Given the description of an element on the screen output the (x, y) to click on. 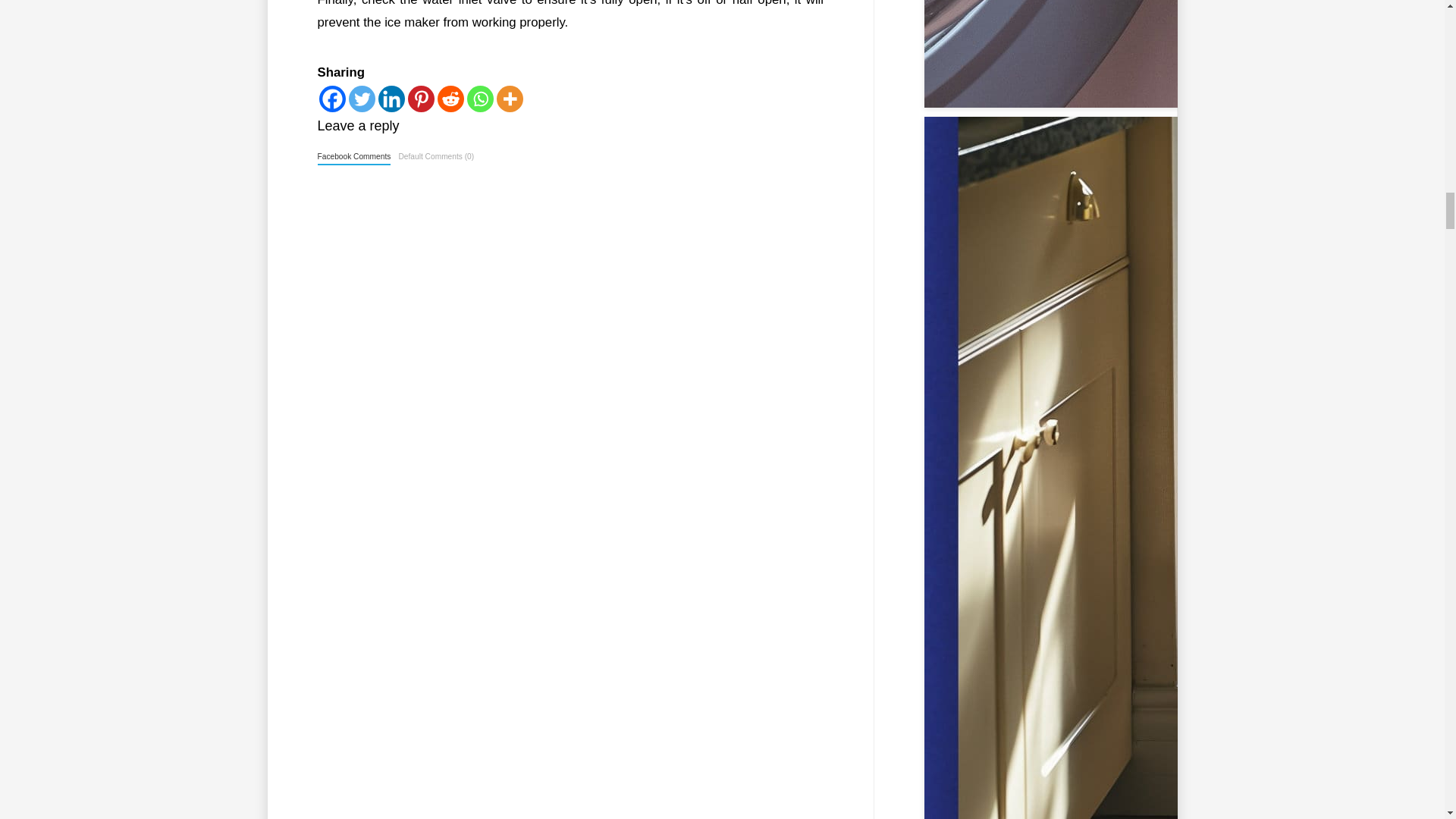
Whatsapp (480, 98)
Twitter (362, 98)
Linkedin (390, 98)
Reddit (449, 98)
More (509, 98)
Facebook (331, 98)
Pinterest (420, 98)
